Given the description of an element on the screen output the (x, y) to click on. 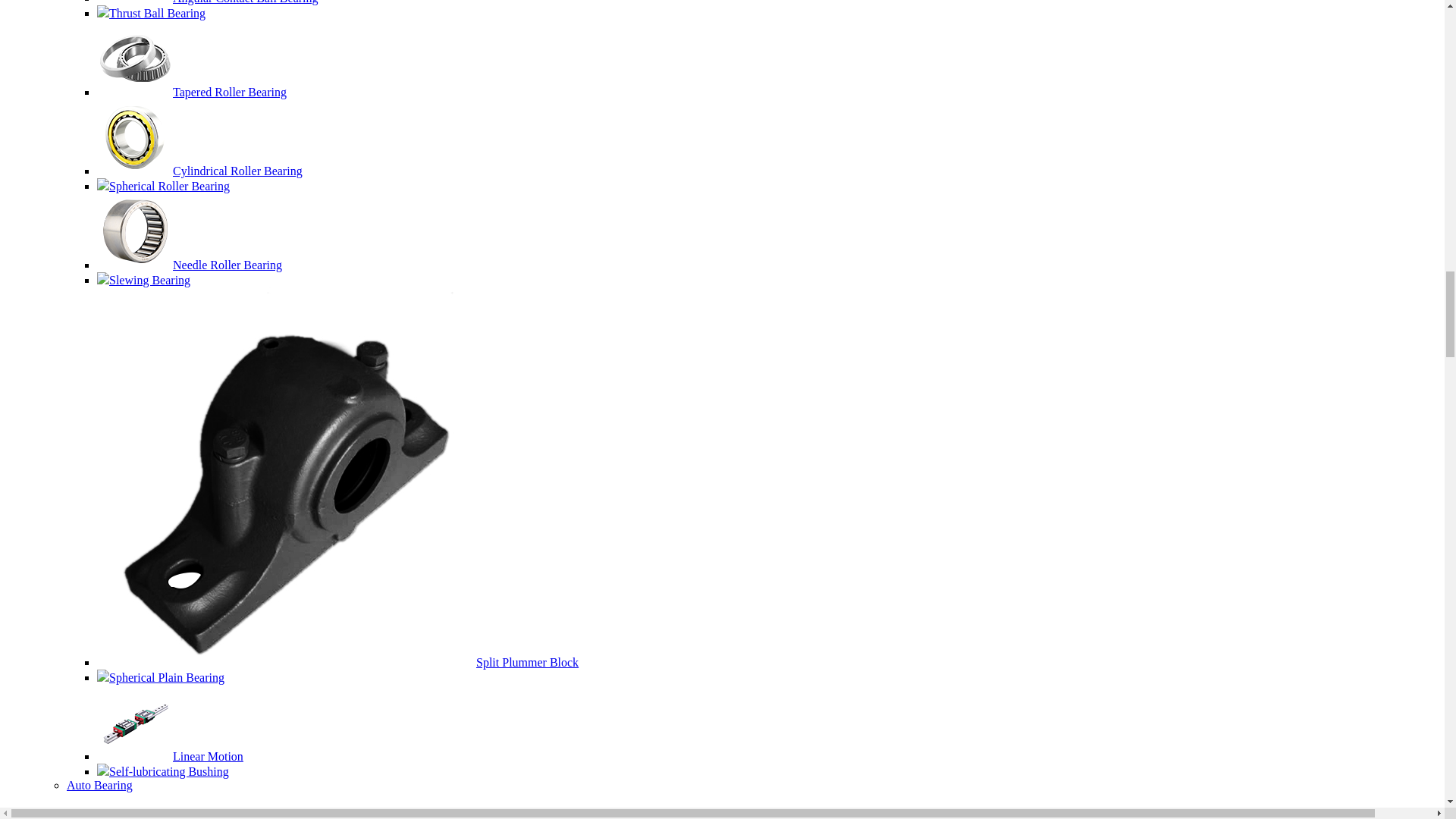
Auto Bearing (99, 784)
